Given the description of an element on the screen output the (x, y) to click on. 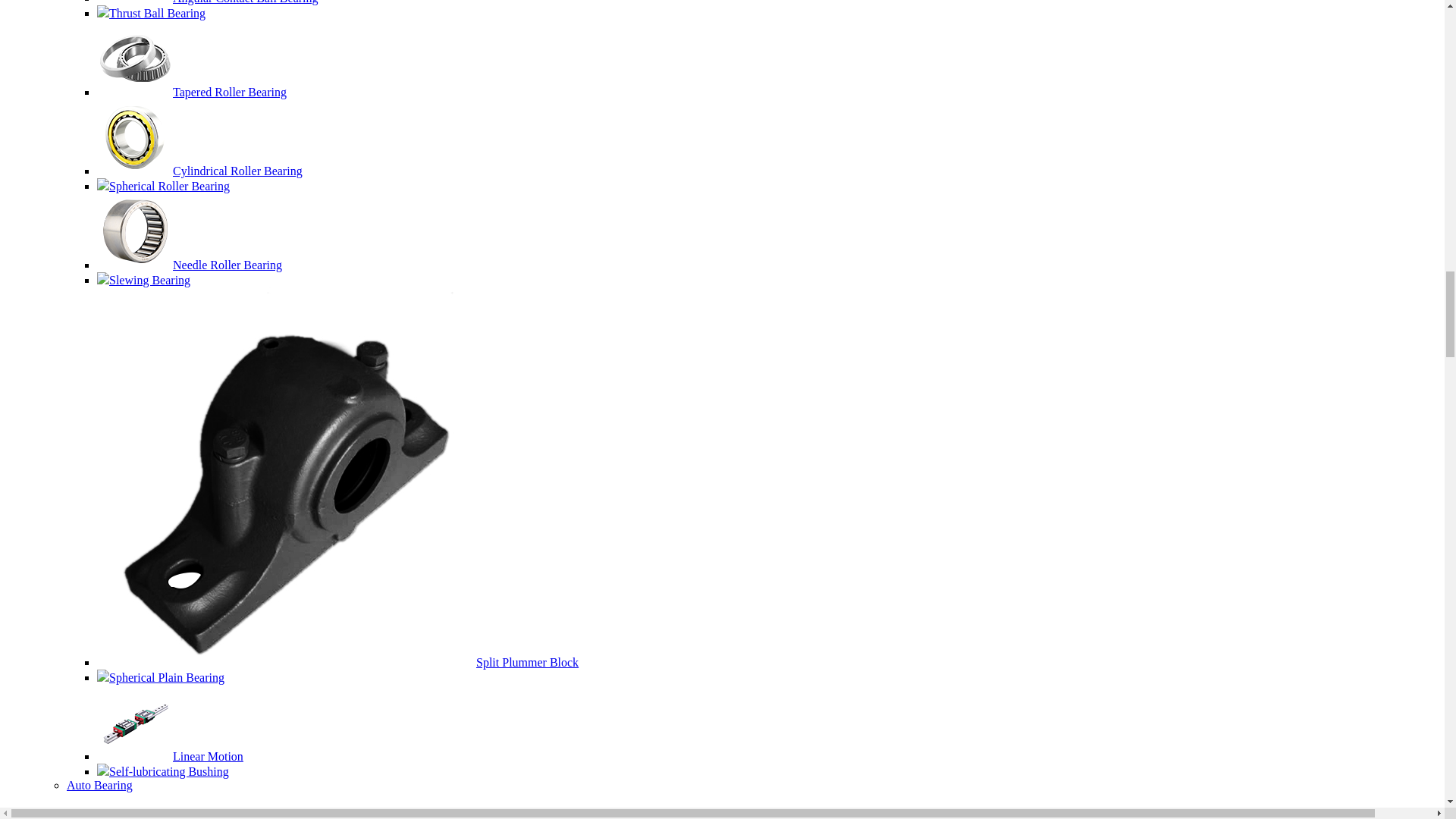
Auto Bearing (99, 784)
